Given the description of an element on the screen output the (x, y) to click on. 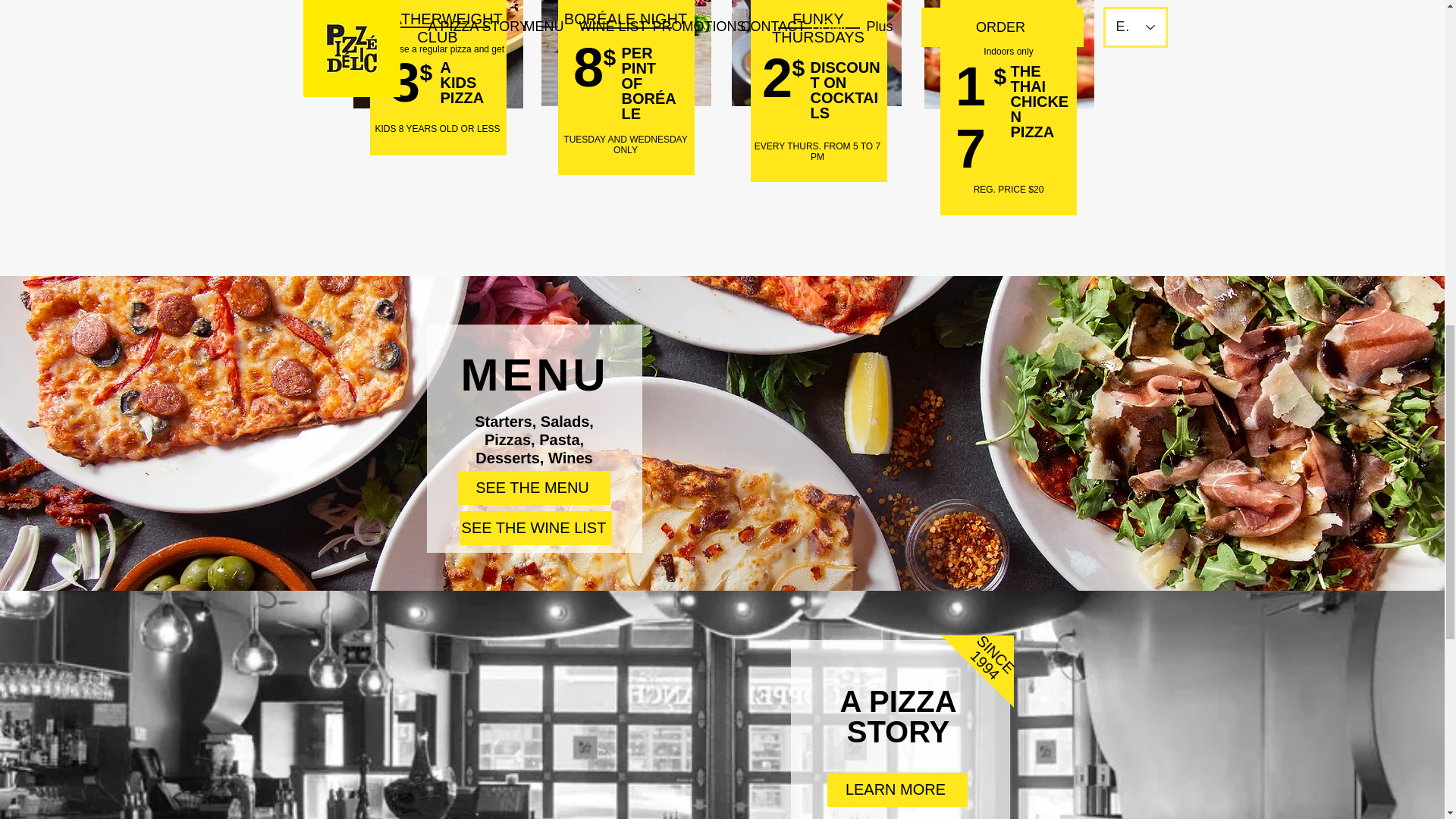
SEE THE WINE LIST (535, 528)
SEE THE MENU (534, 487)
LEARN MORE (896, 789)
